Given the description of an element on the screen output the (x, y) to click on. 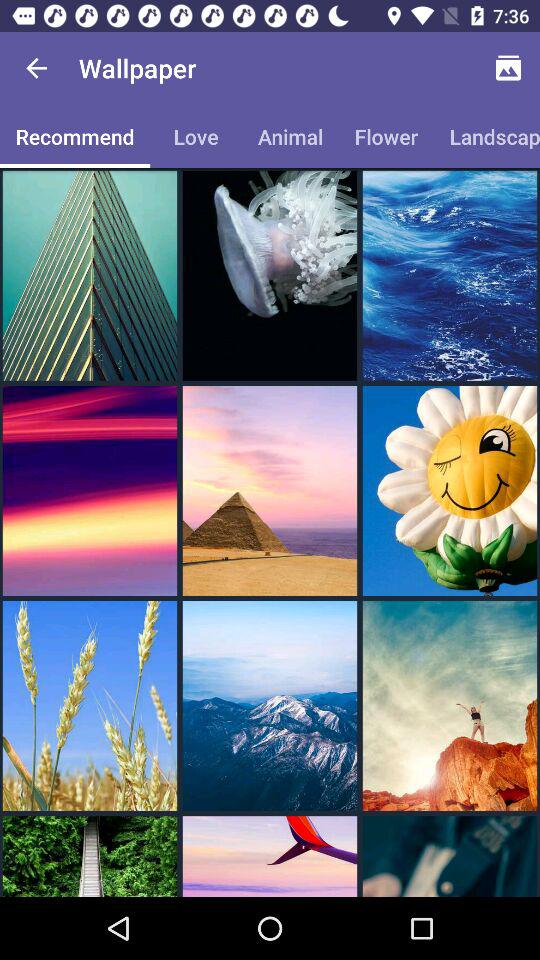
tap the item above the recommend item (36, 68)
